Given the description of an element on the screen output the (x, y) to click on. 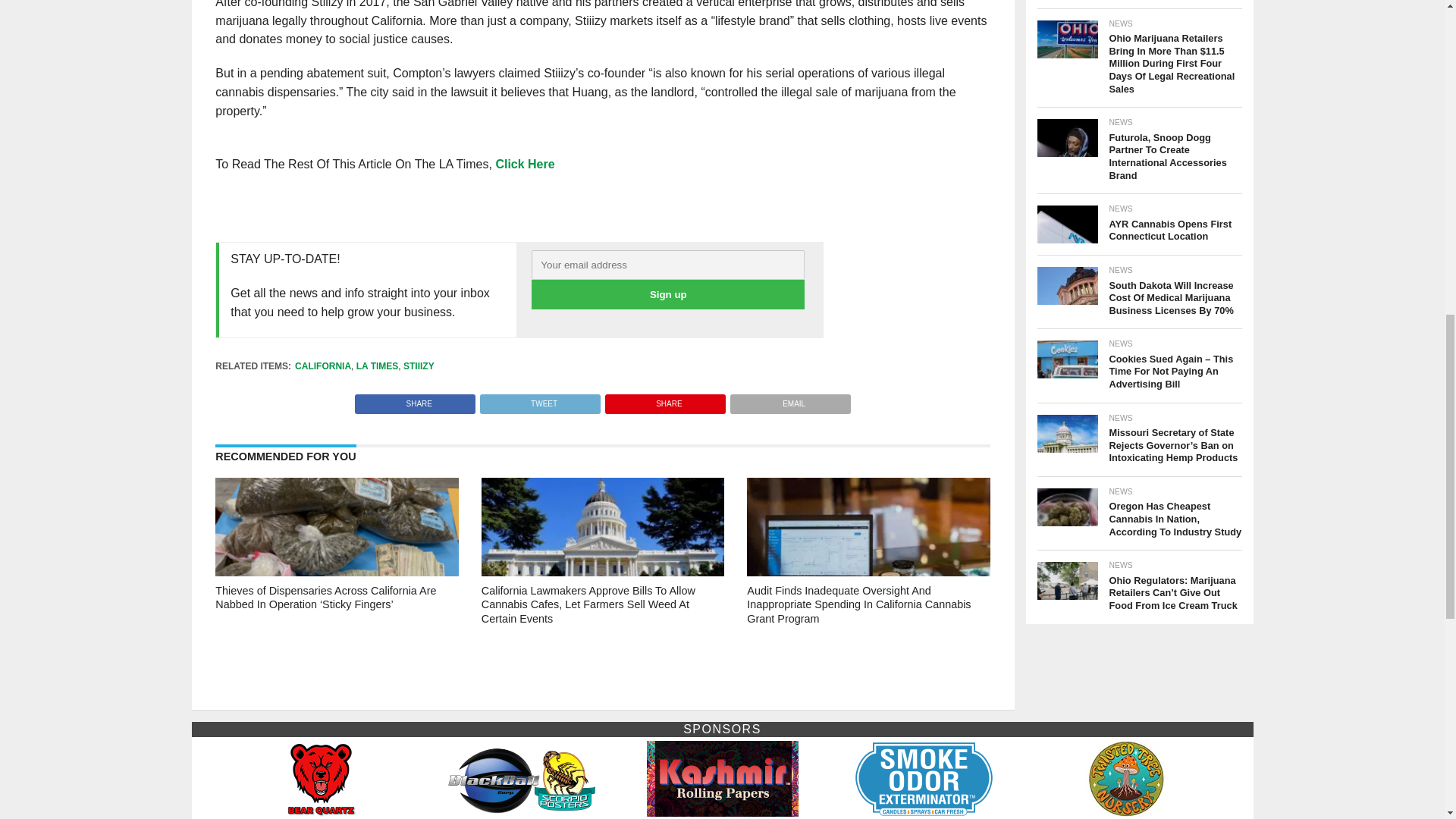
Tweet This Post (539, 399)
Click Here (524, 164)
Sign up (668, 294)
Pin This Post (664, 399)
Share on Facebook (415, 399)
Sign up (668, 294)
